Given the description of an element on the screen output the (x, y) to click on. 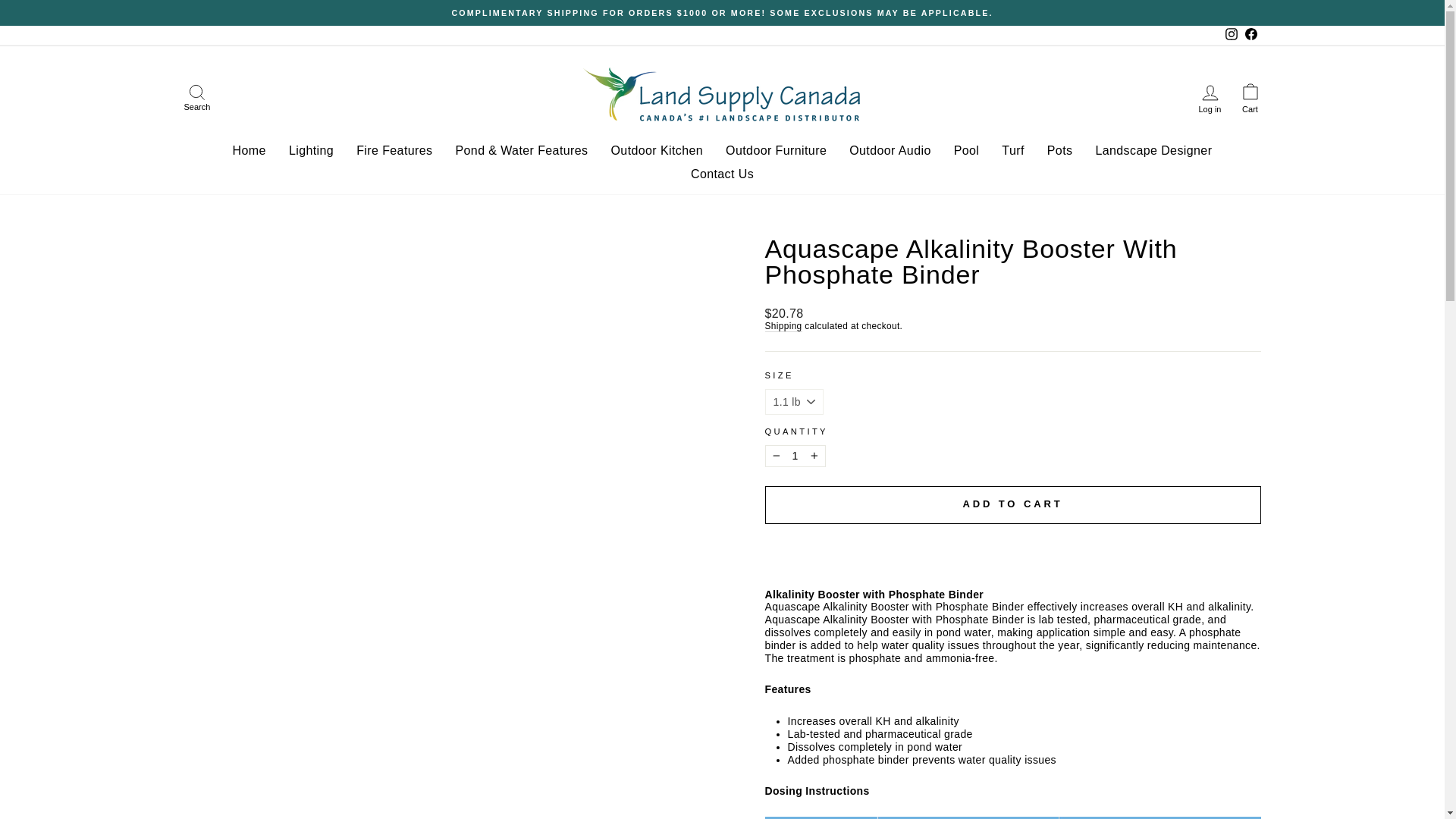
1 (794, 455)
Land Supply Canada on Instagram (1230, 35)
Land Supply Canada on Facebook (1250, 35)
